Given the description of an element on the screen output the (x, y) to click on. 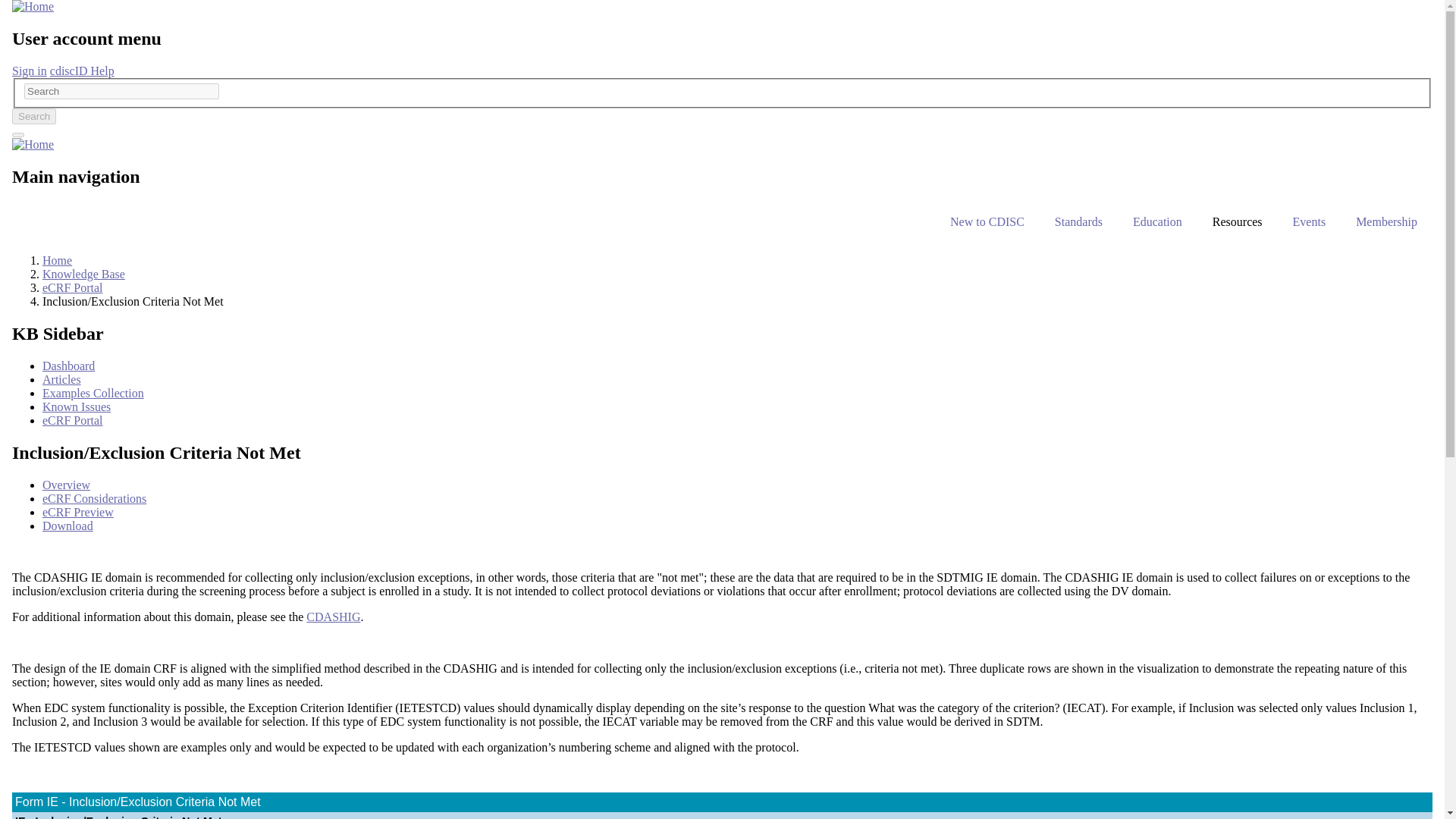
Home (32, 6)
Sign in (28, 70)
New to CDISC (986, 221)
Known Issues (76, 406)
Articles (61, 379)
Search (33, 116)
Home (32, 144)
Examples Collection (93, 392)
eCRF (72, 420)
cdiscID Help (82, 70)
Standards (1078, 221)
Show site navigation (17, 134)
Dashboard (68, 365)
